Given the description of an element on the screen output the (x, y) to click on. 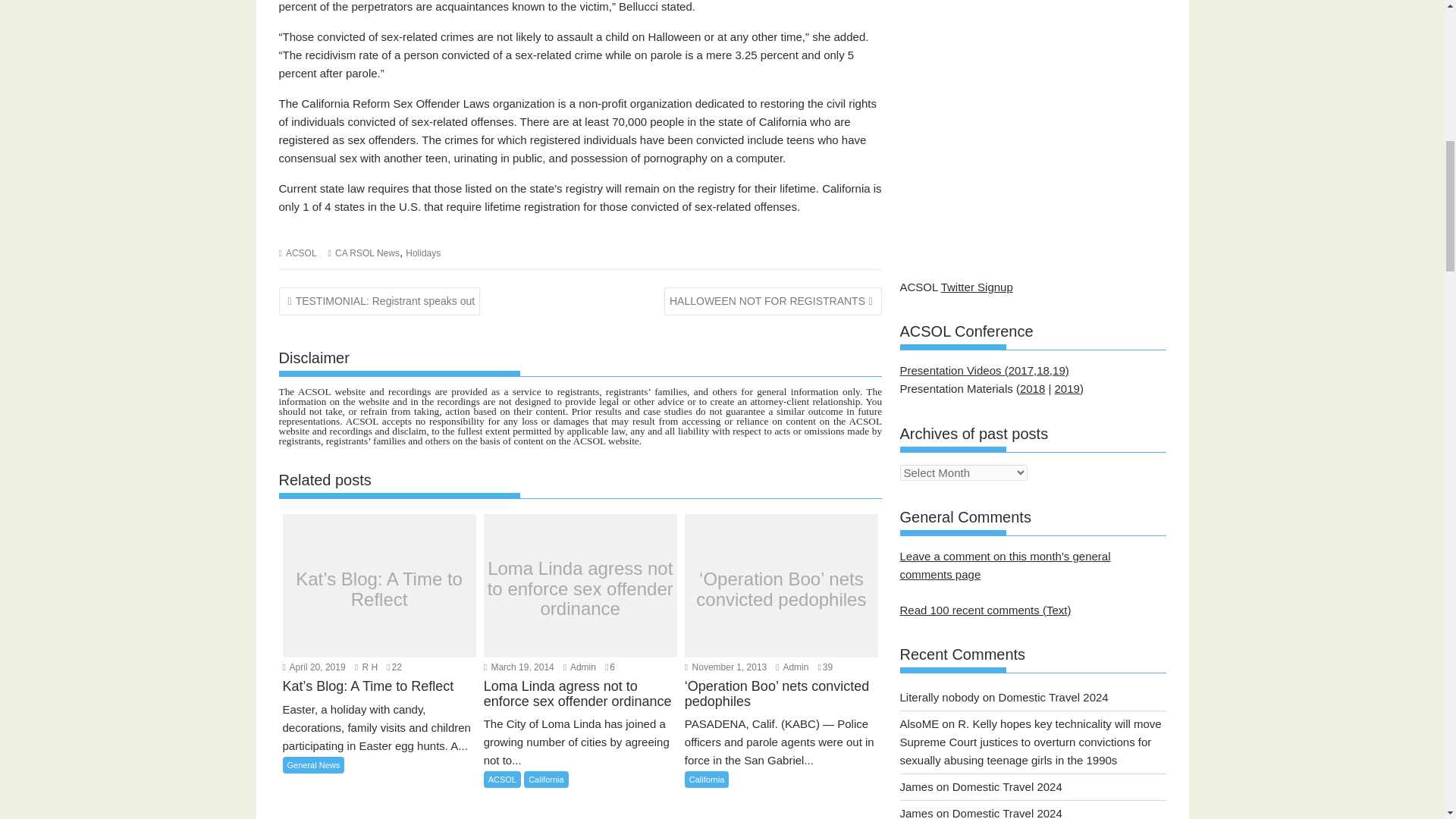
R H (366, 666)
Admin (579, 666)
Admin (792, 666)
